Given the description of an element on the screen output the (x, y) to click on. 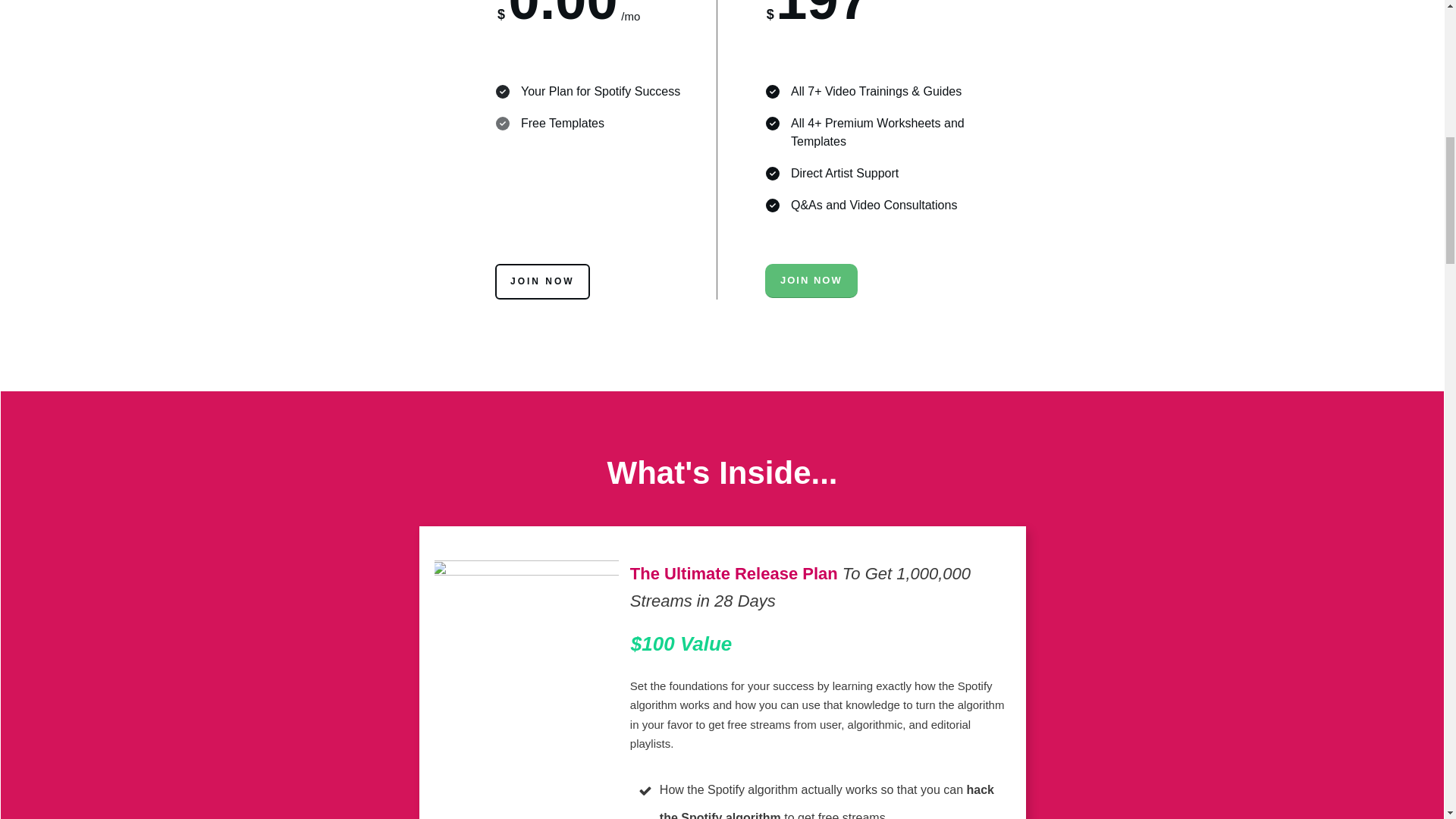
JOIN NOW (811, 280)
JOIN NOW (542, 280)
SPOTIFY SUCCESS - Mockup (547, 630)
